Given the description of an element on the screen output the (x, y) to click on. 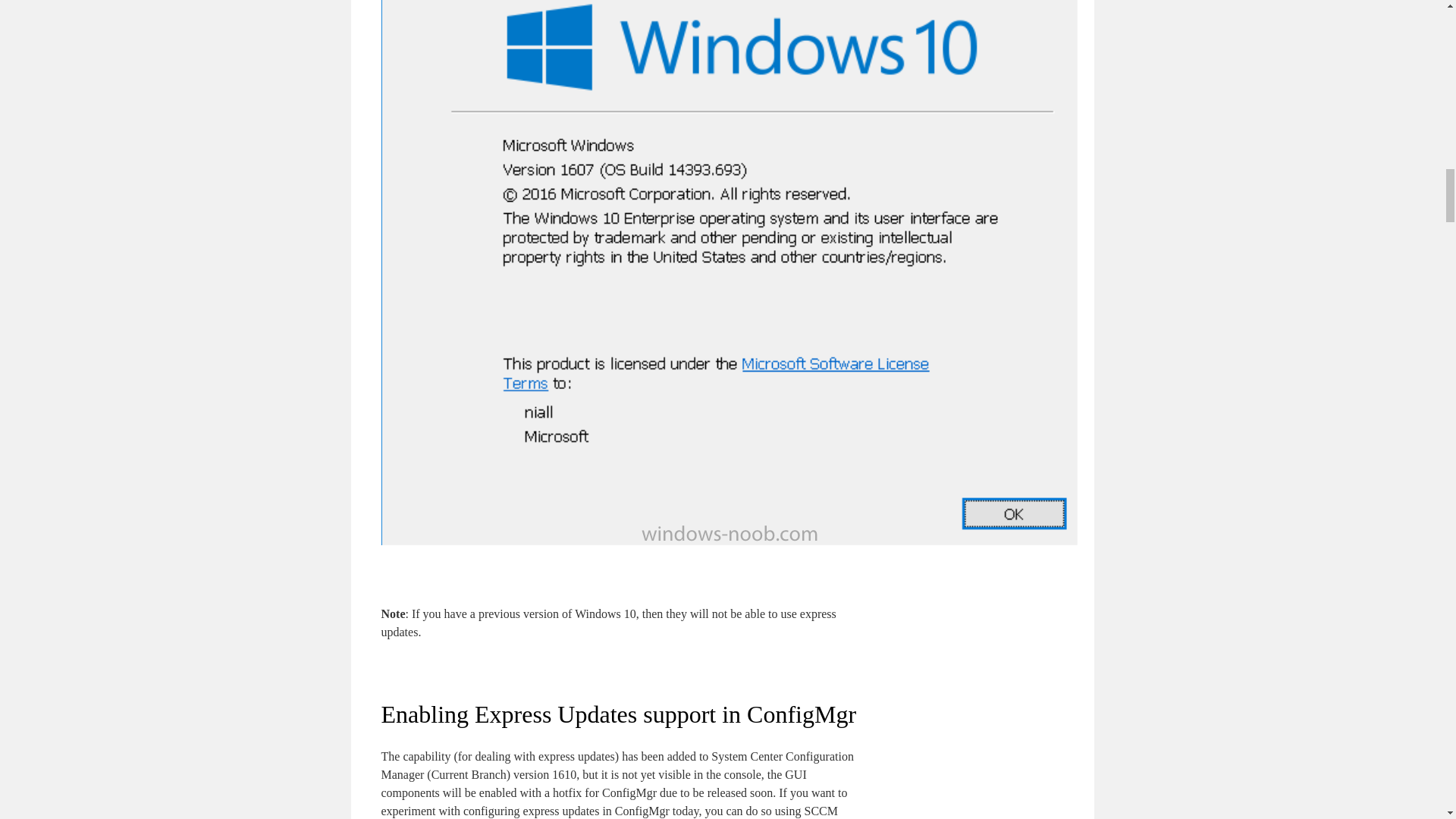
windows 10 version 1607 build 14393 693.png - Size: 86.23KB (728, 540)
